Given the description of an element on the screen output the (x, y) to click on. 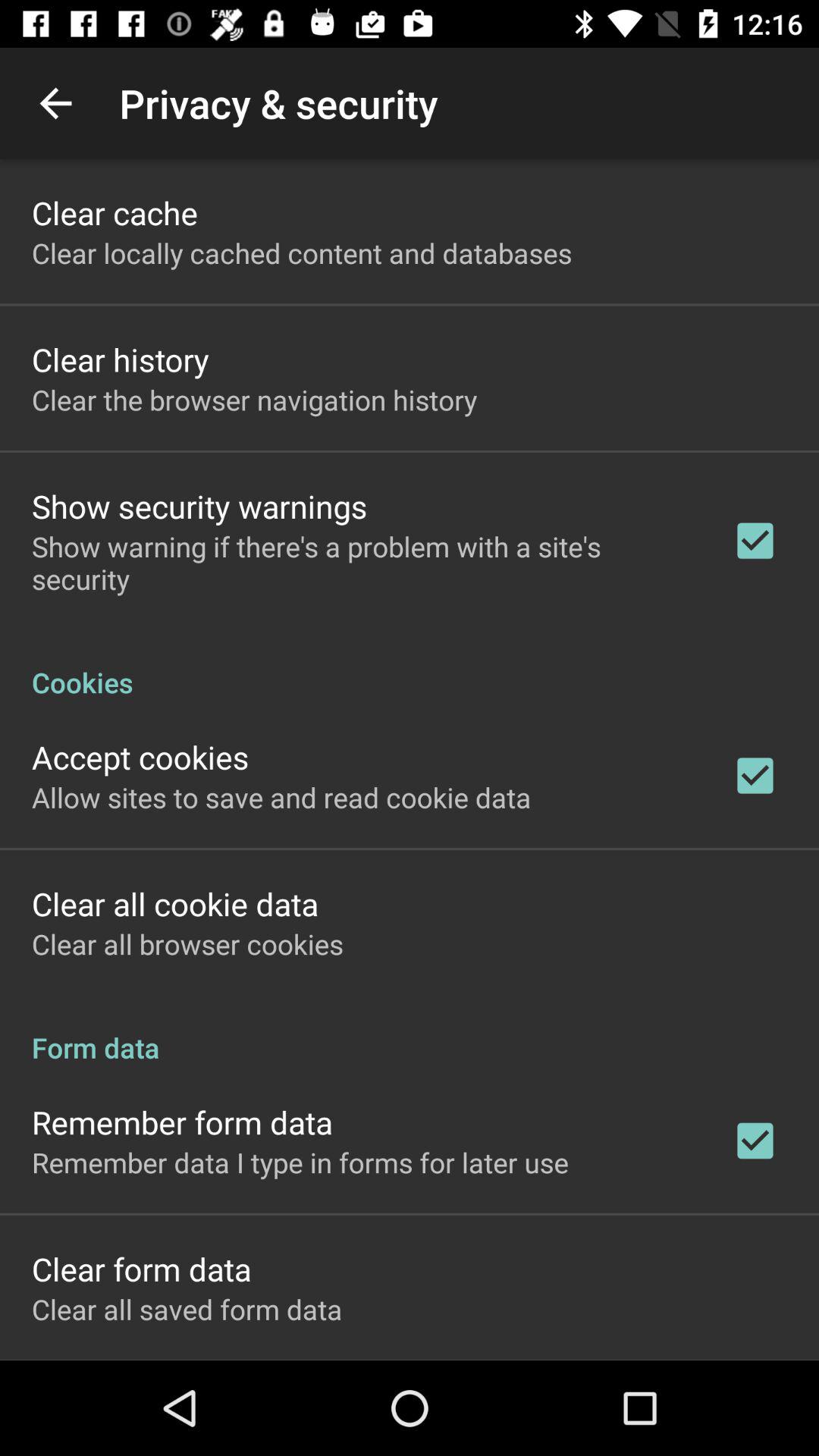
swipe to clear cache icon (114, 212)
